Given the description of an element on the screen output the (x, y) to click on. 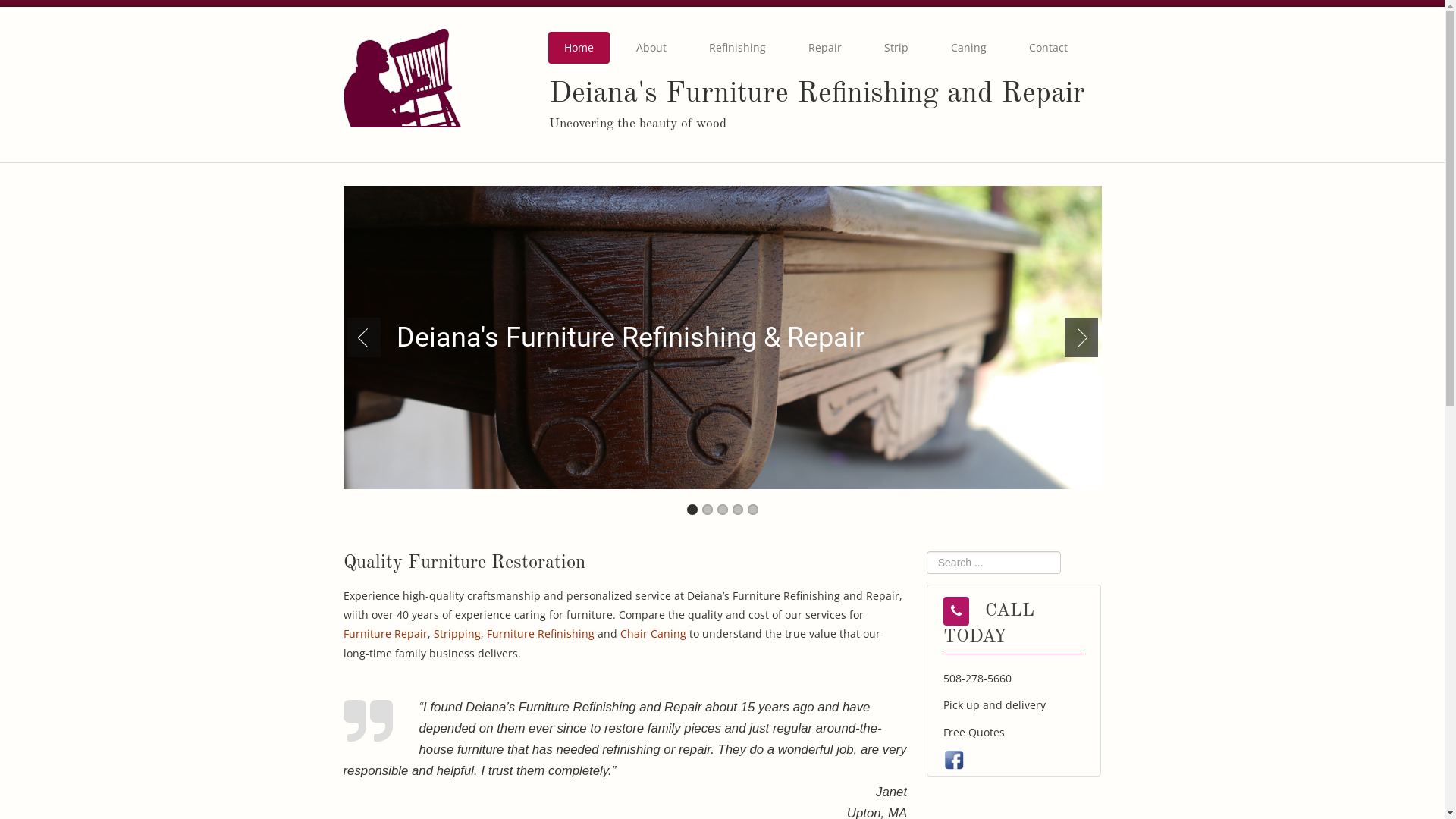
Next Element type: text (1078, 337)
About Element type: text (651, 47)
Furniture Repair Element type: text (384, 633)
Repair Element type: text (824, 47)
Strip Element type: text (896, 47)
Contact Element type: text (1048, 47)
1 Element type: text (692, 509)
Furniture Refinishing Element type: text (540, 633)
Chair Caning Element type: text (653, 633)
Previous Element type: text (366, 337)
2 Element type: text (707, 509)
Refinishing Element type: text (737, 47)
5 Element type: text (752, 509)
Stripping Element type: text (456, 633)
3 Element type: text (722, 509)
Home Element type: text (578, 47)
4 Element type: text (737, 509)
Caning Element type: text (968, 47)
